Given the description of an element on the screen output the (x, y) to click on. 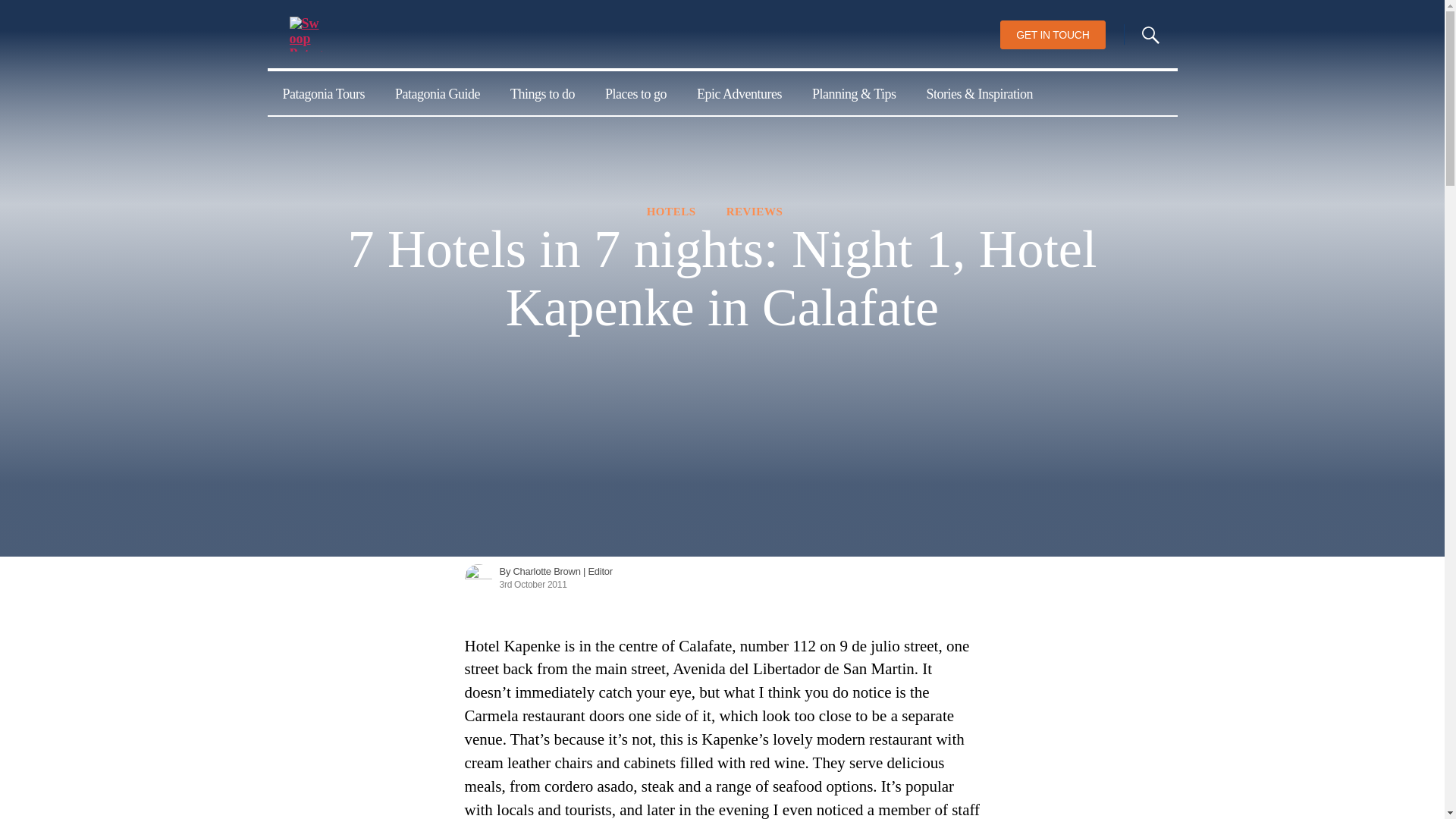
Patagonia Tours (322, 93)
REVIEWS (754, 212)
Places to go (635, 93)
Epic Adventures (738, 93)
Things to do (542, 93)
GET IN TOUCH (1052, 34)
HOTELS (670, 212)
Patagonia Guide (437, 93)
